Given the description of an element on the screen output the (x, y) to click on. 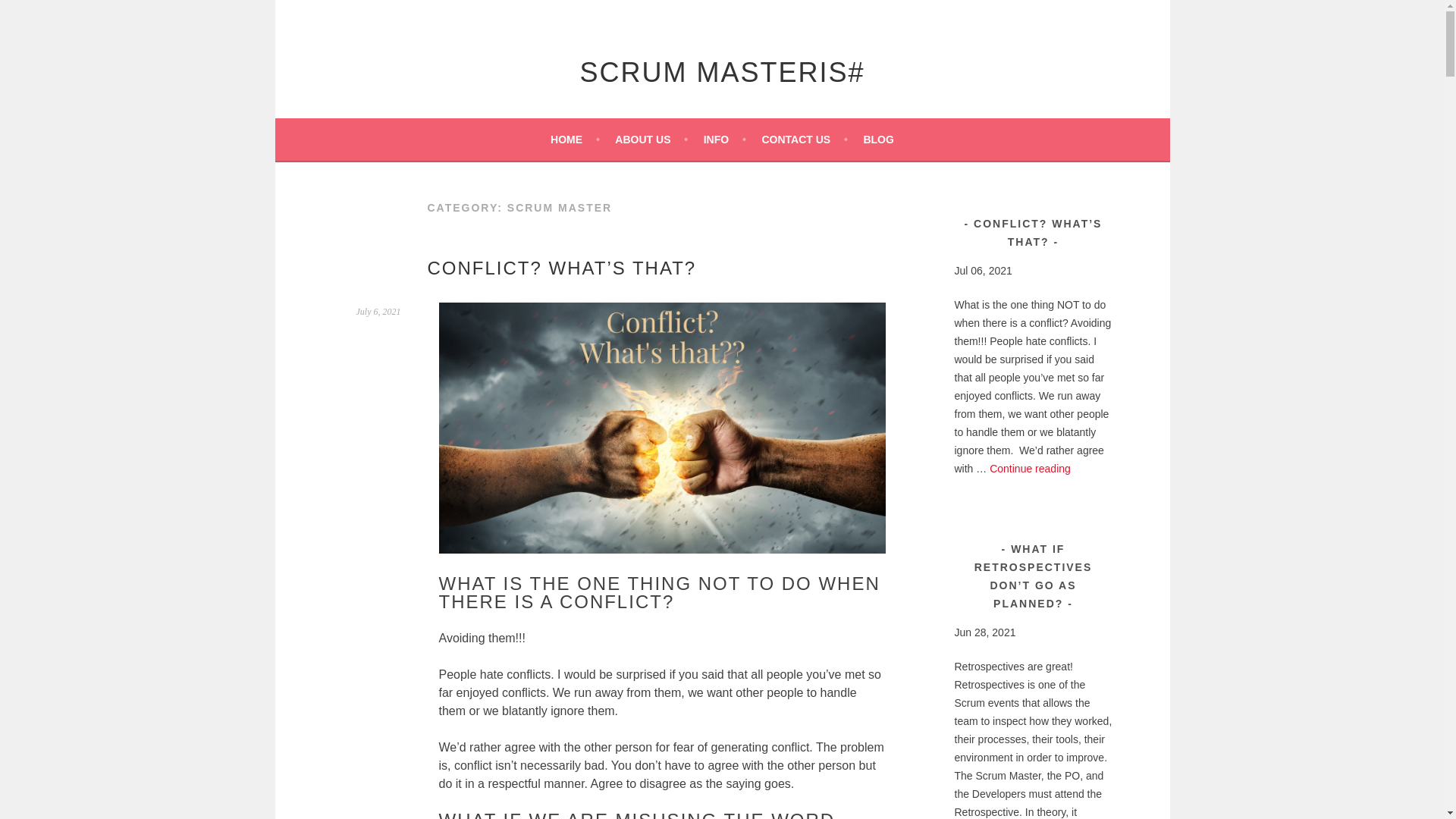
ABOUT US (650, 139)
HOME (574, 139)
CONTACT US (804, 139)
INFO (724, 139)
BLOG (878, 139)
July 6, 2021 (378, 311)
